Given the description of an element on the screen output the (x, y) to click on. 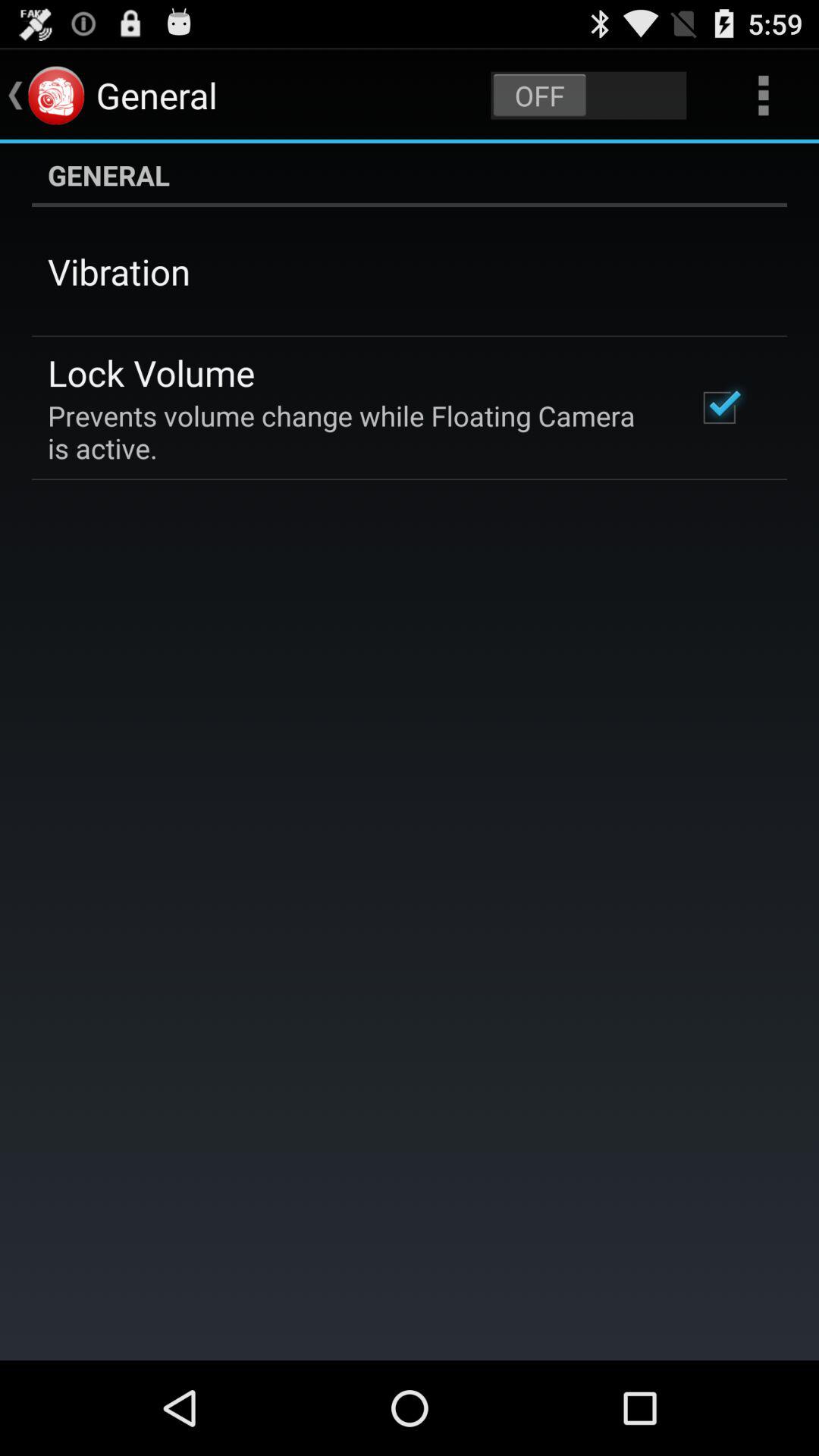
select the app next to prevents volume change icon (719, 407)
